Given the description of an element on the screen output the (x, y) to click on. 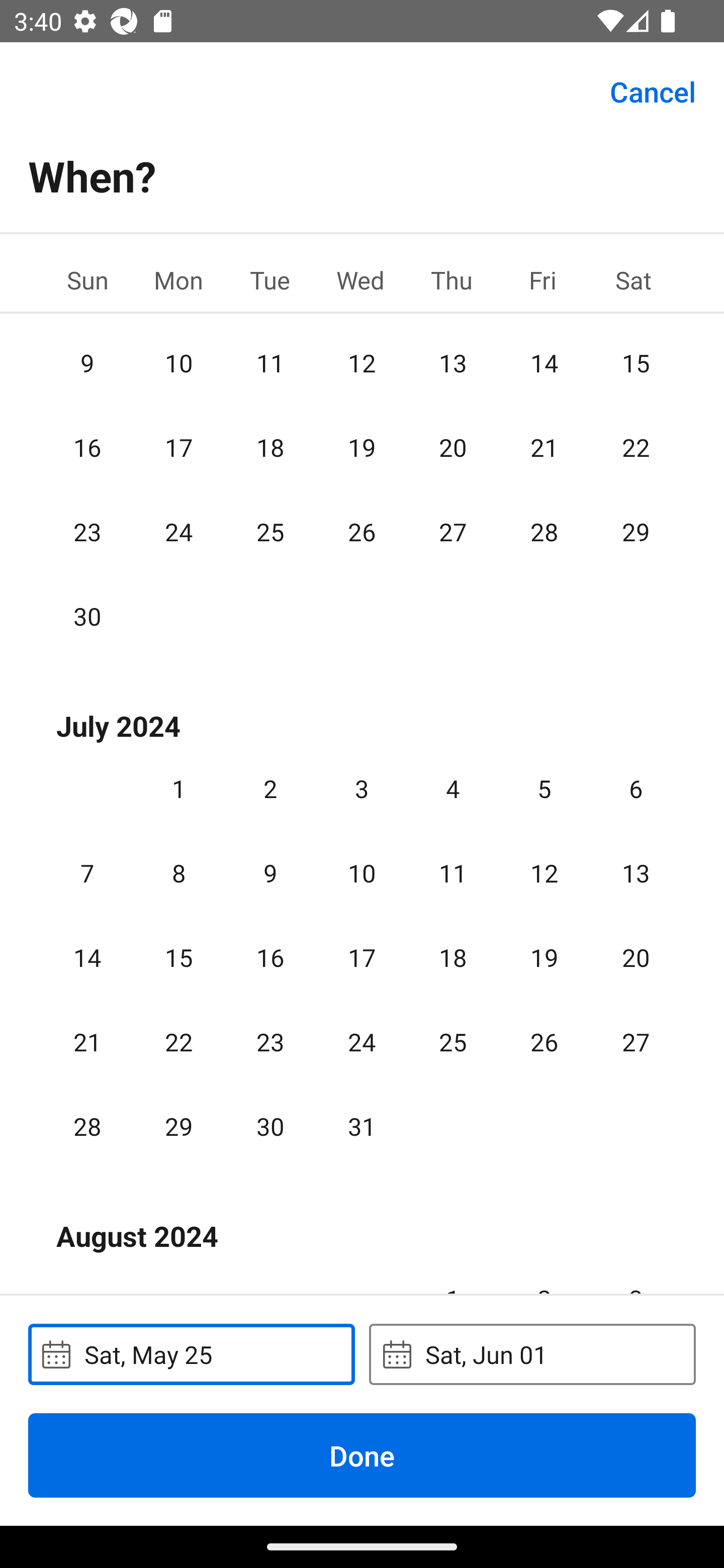
Cancel (652, 90)
Sat, May 25 (191, 1353)
Sat, Jun 01 (532, 1353)
Done (361, 1454)
